Given the description of an element on the screen output the (x, y) to click on. 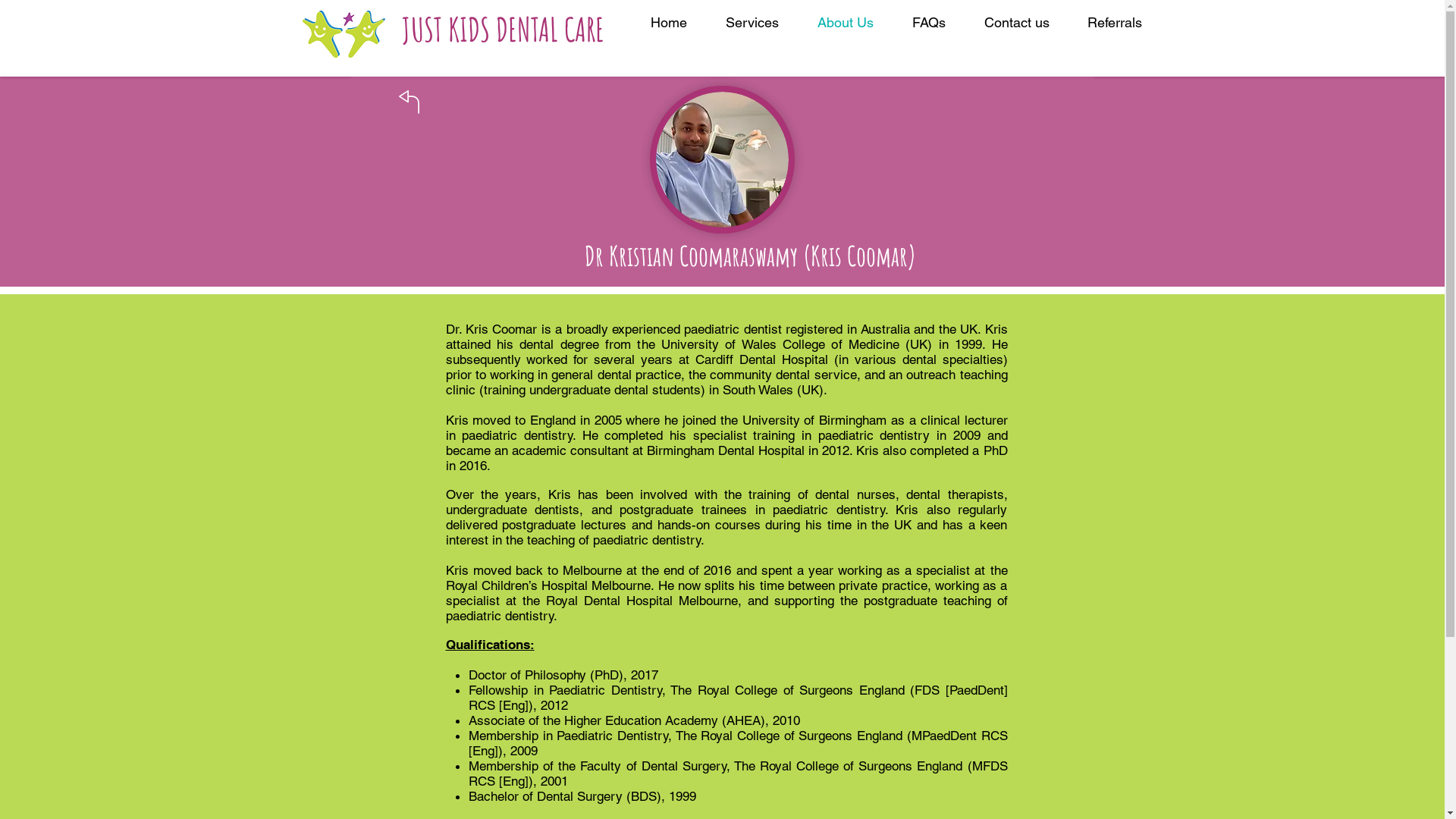
About Us Element type: text (844, 22)
FAQs Element type: text (929, 22)
Referrals Element type: text (1113, 22)
Contact us Element type: text (1015, 22)
Services Element type: text (752, 22)
Home Element type: text (668, 22)
